Given the description of an element on the screen output the (x, y) to click on. 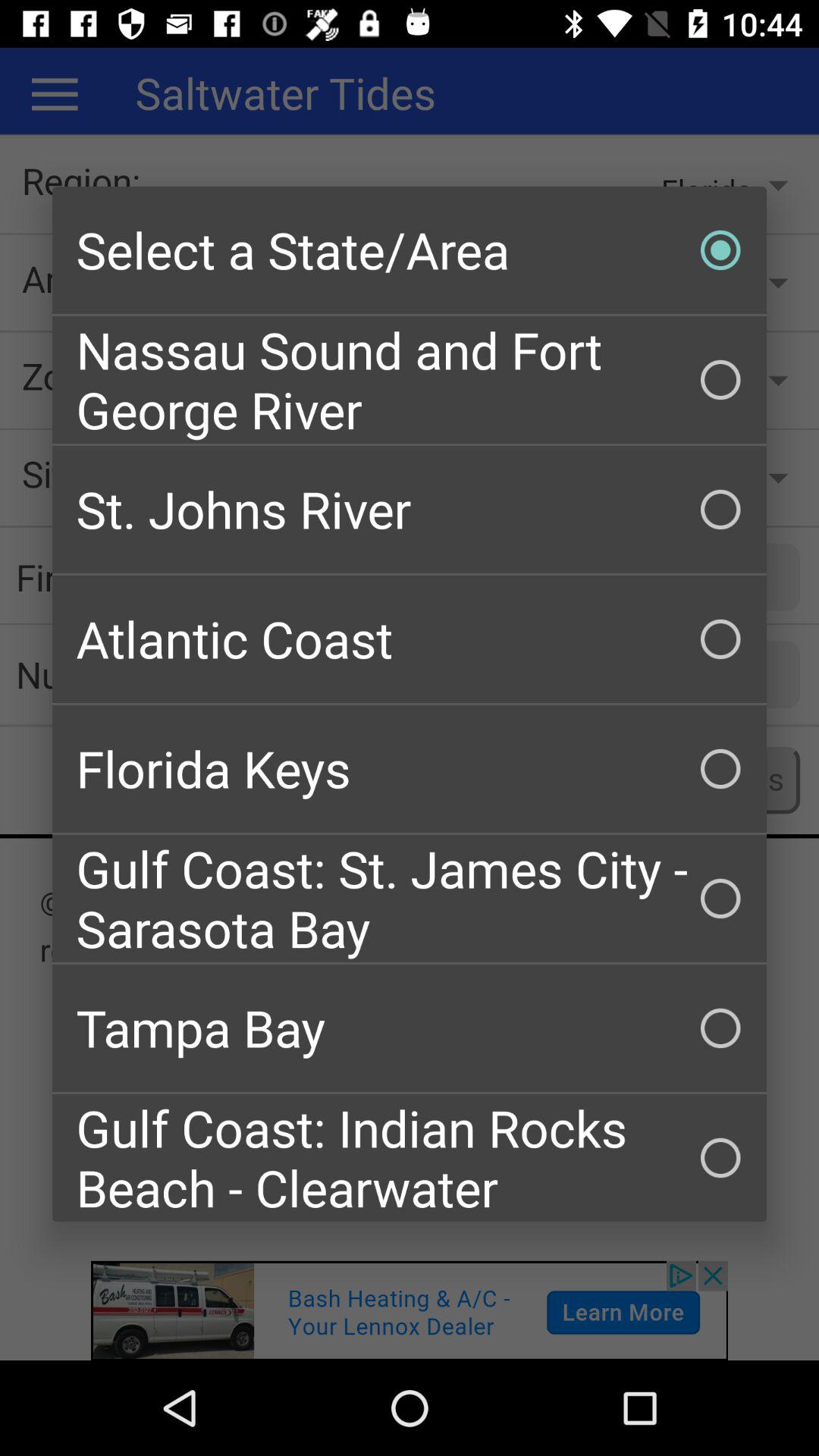
flip to the tampa bay item (409, 1028)
